Given the description of an element on the screen output the (x, y) to click on. 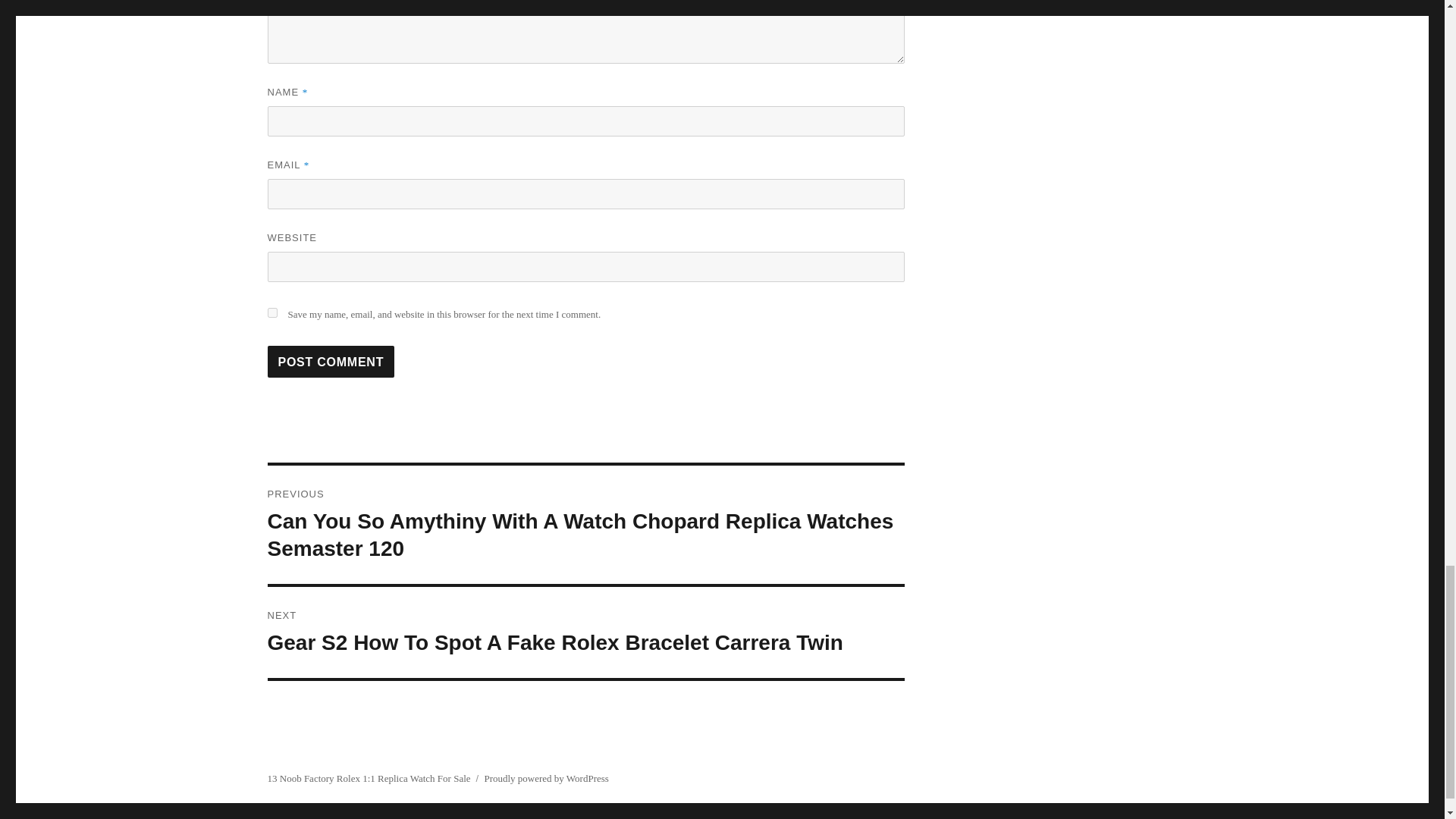
yes (271, 312)
Post Comment (330, 361)
Post Comment (330, 361)
